Given the description of an element on the screen output the (x, y) to click on. 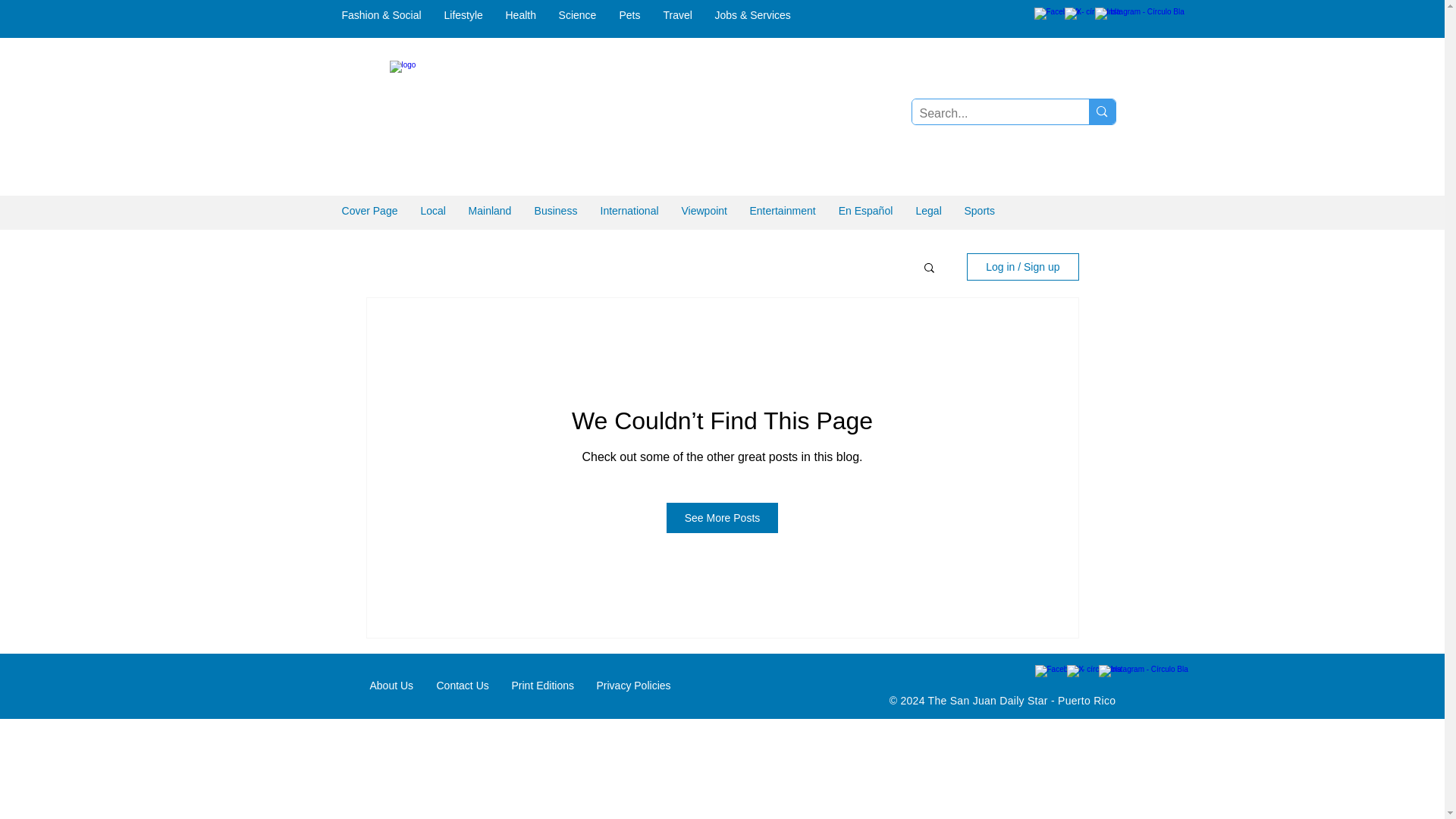
Viewpoint (703, 210)
Travel (677, 15)
Business (555, 210)
Print Editions (542, 685)
Mainland (489, 210)
Sports (979, 210)
International (628, 210)
Cover Page (369, 210)
See More Posts (722, 517)
Pets (630, 15)
